Given the description of an element on the screen output the (x, y) to click on. 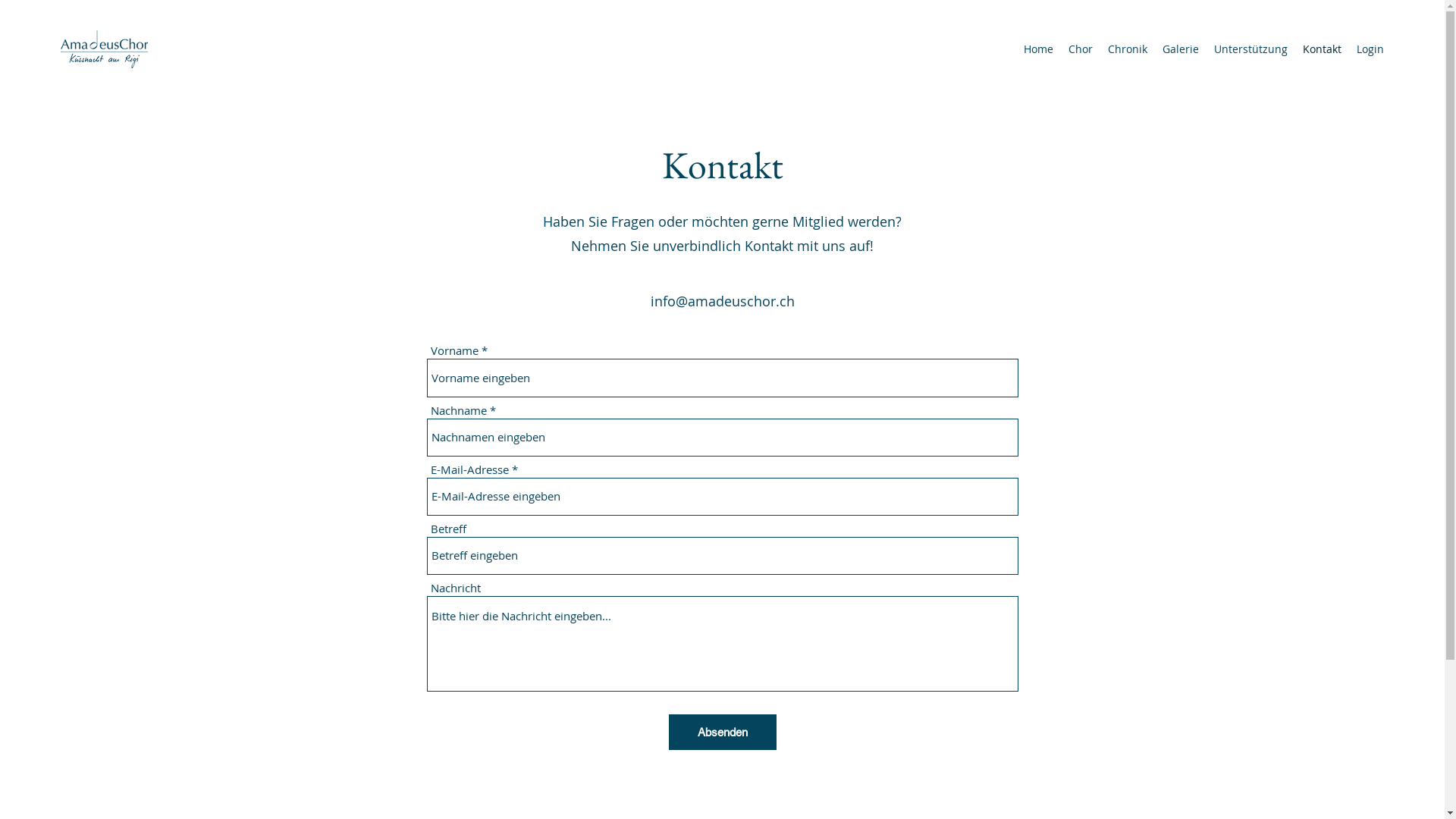
Galerie Element type: text (1180, 48)
Login Element type: text (1370, 48)
Chor Element type: text (1080, 48)
Absenden Element type: text (722, 731)
Chronik Element type: text (1127, 48)
Home Element type: text (1038, 48)
Kontakt Element type: text (1322, 48)
info@amadeuschor.ch Element type: text (722, 300)
